Given the description of an element on the screen output the (x, y) to click on. 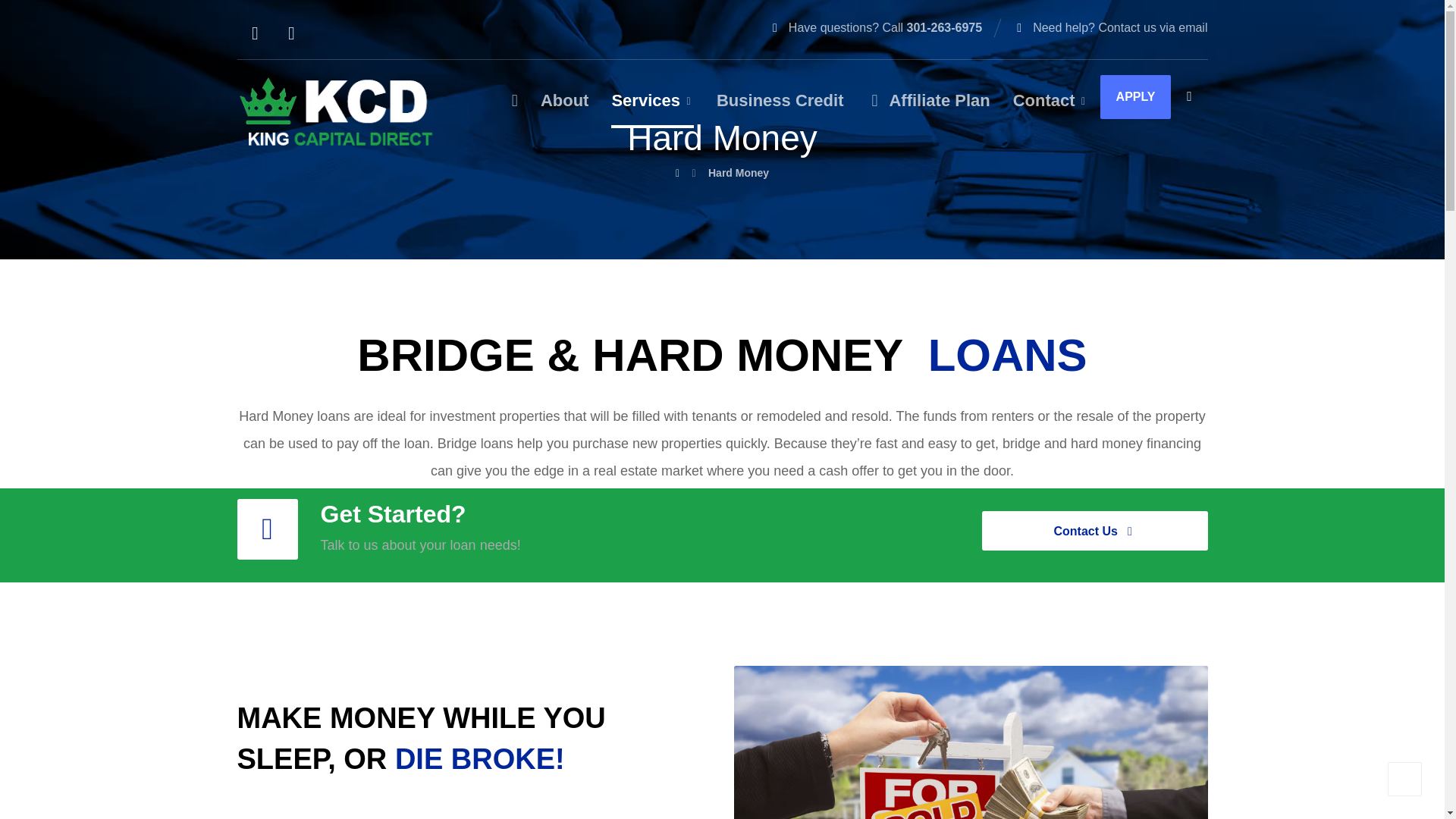
Business Credit (780, 105)
About (564, 105)
Services (652, 105)
Home page (677, 173)
We Fund Real Estate Investments! (334, 112)
Have questions? Call 301-263-6975 (874, 26)
APPLY (1136, 96)
Affiliate Plan (928, 105)
Need help? Contact us via email (1110, 26)
Contact (1051, 105)
